Given the description of an element on the screen output the (x, y) to click on. 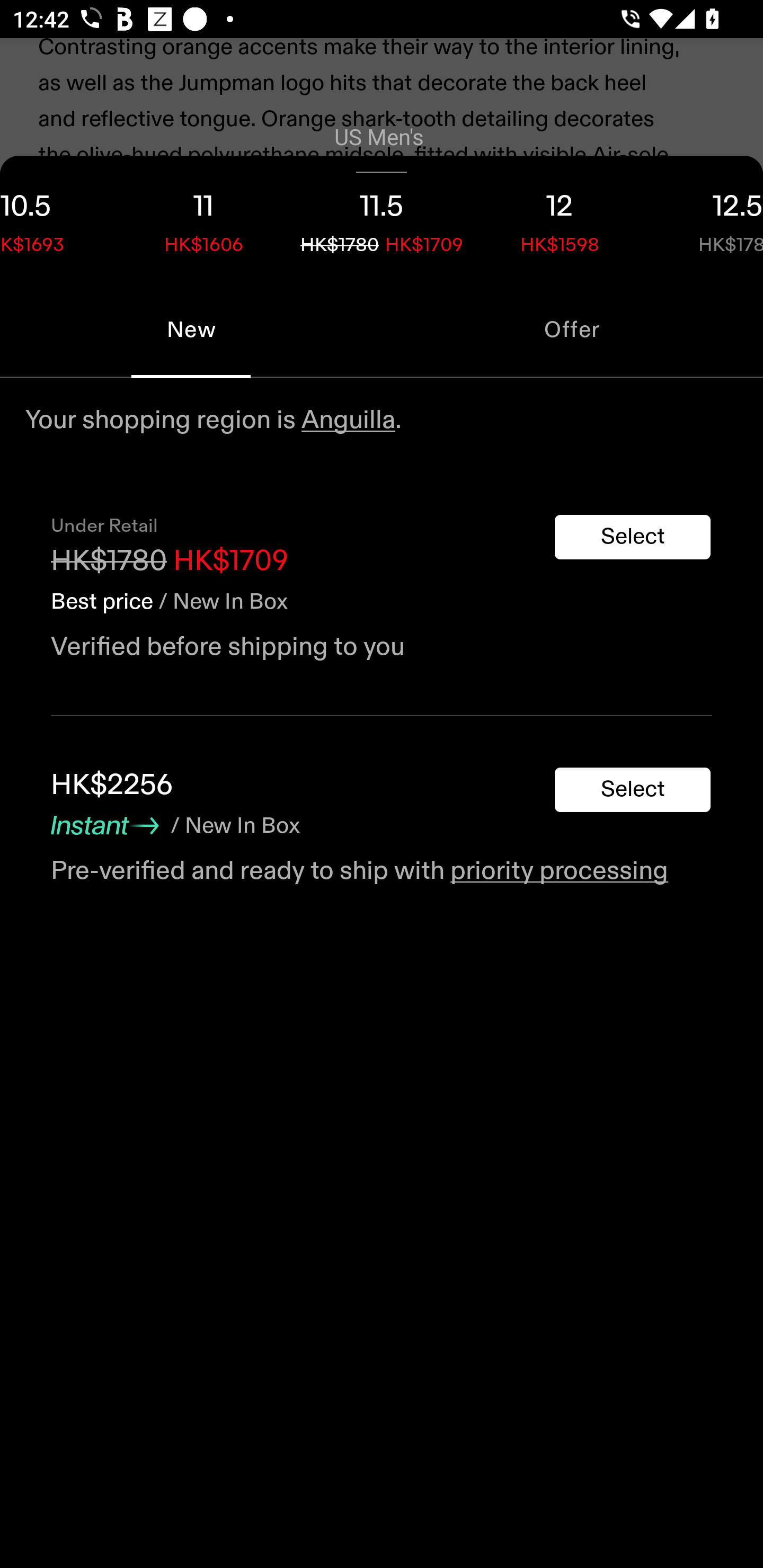
10.5 HK$1693 (57, 218)
11 HK$1606 (203, 218)
11.5 HK$1780 HK$1709 (381, 218)
12 HK$1598 (559, 218)
12.5 HK$1780 (705, 218)
Offer (572, 329)
Select (632, 536)
HK$2256 (111, 785)
Select (632, 789)
